Given the description of an element on the screen output the (x, y) to click on. 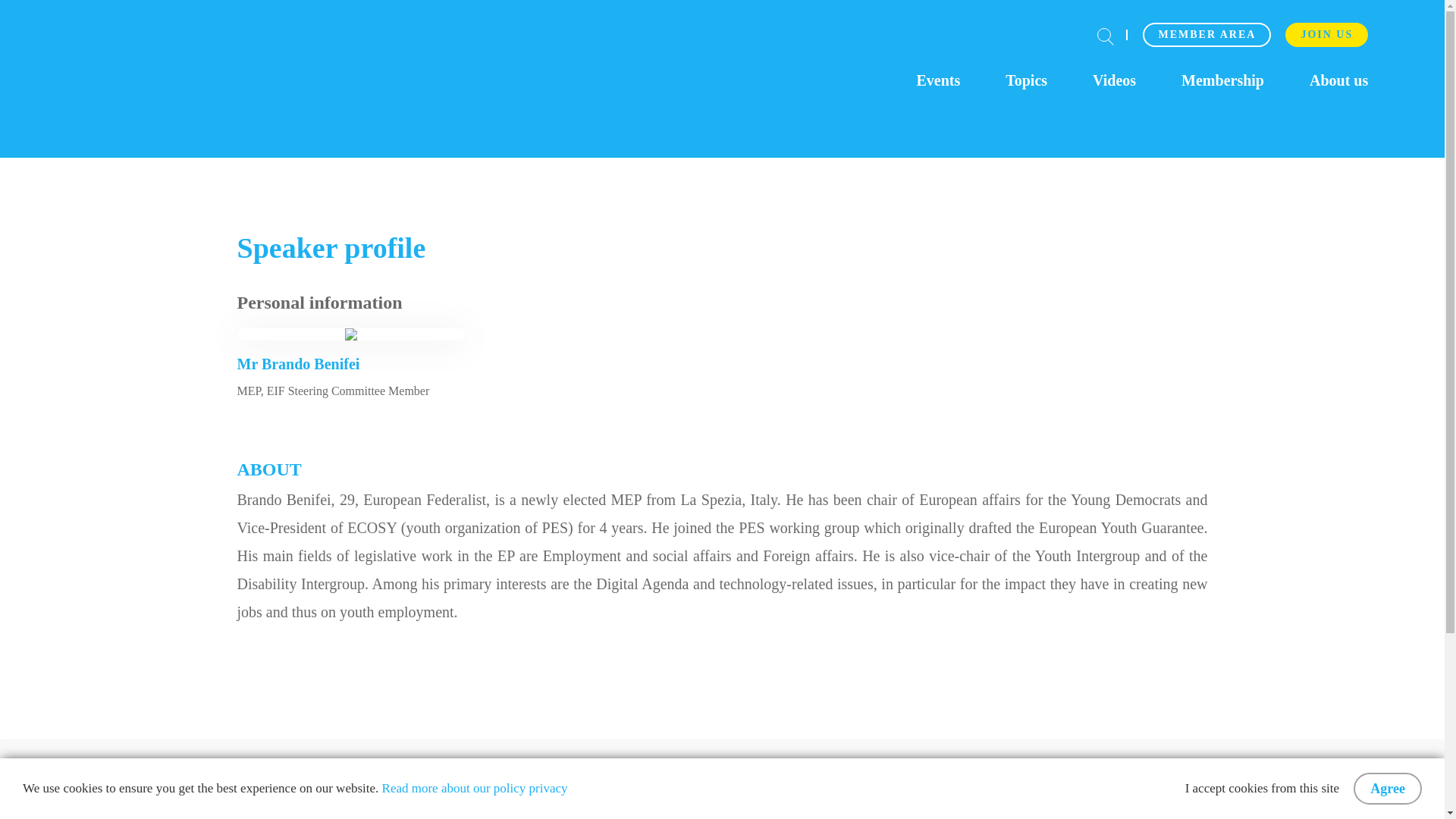
About us (1338, 83)
MEMBER AREA (1206, 34)
Read more about our policy privacy (474, 788)
Topics (1026, 83)
JOIN US (1326, 34)
Agree (1388, 788)
Events (937, 83)
